Given the description of an element on the screen output the (x, y) to click on. 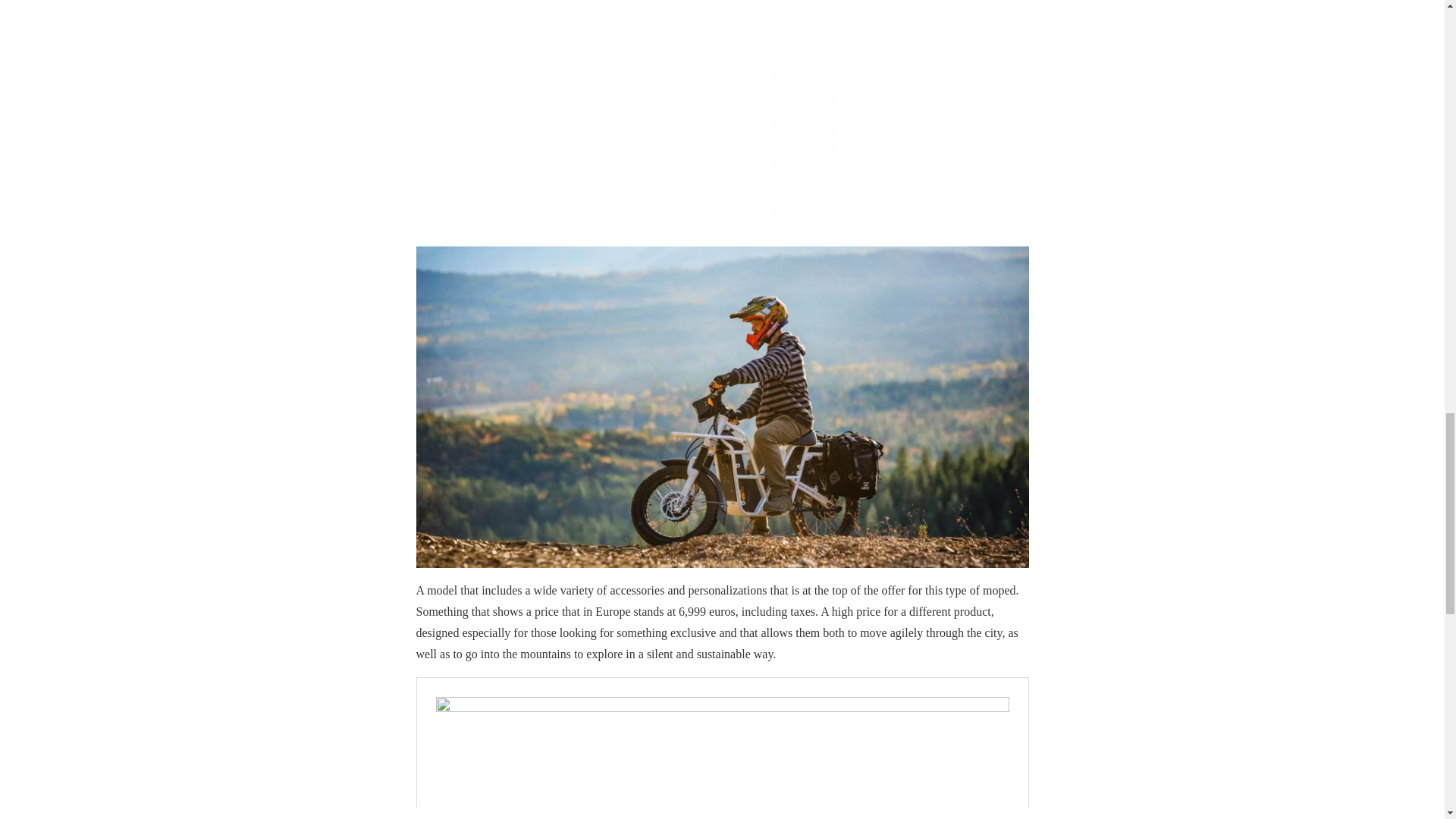
3rd party ad content (721, 116)
